Given the description of an element on the screen output the (x, y) to click on. 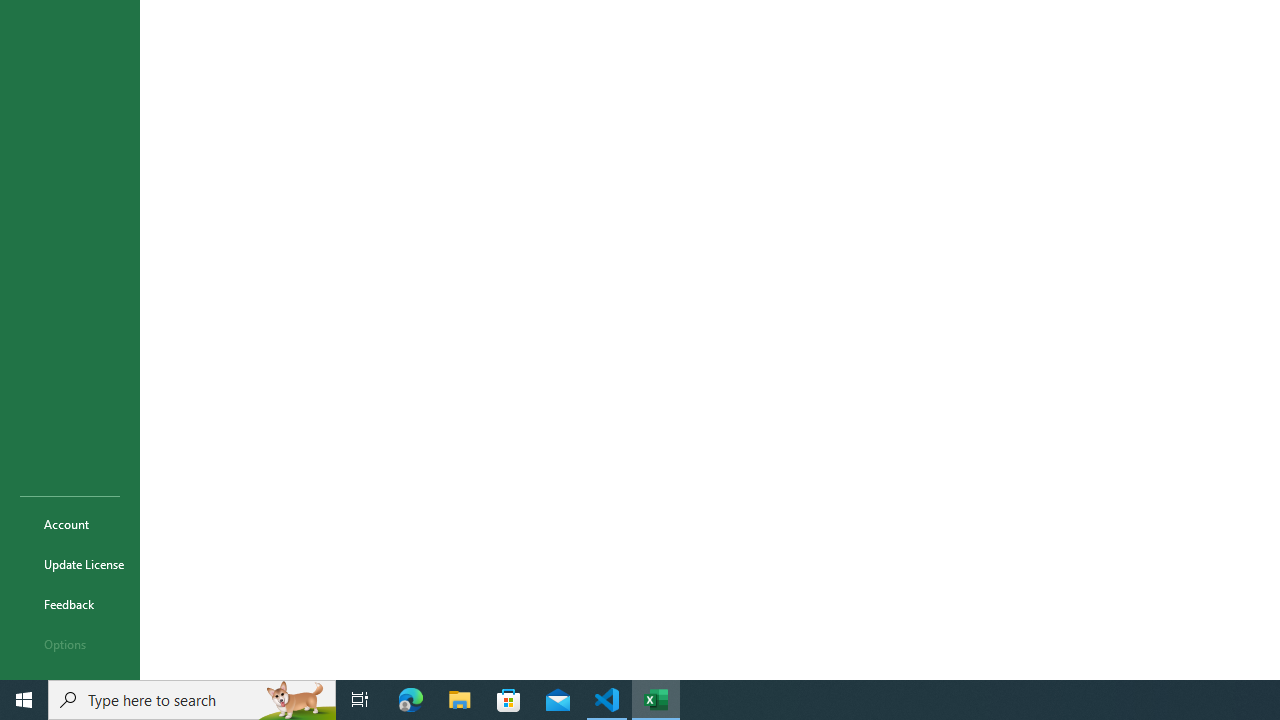
Task View (359, 699)
Microsoft Store (509, 699)
Type here to search (191, 699)
Options (69, 643)
Visual Studio Code - 1 running window (607, 699)
Start (24, 699)
Feedback (69, 603)
Update License (69, 563)
File Explorer (460, 699)
Microsoft Edge (411, 699)
Excel - 1 running window (656, 699)
Account (69, 523)
Search highlights icon opens search home window (295, 699)
